Given the description of an element on the screen output the (x, y) to click on. 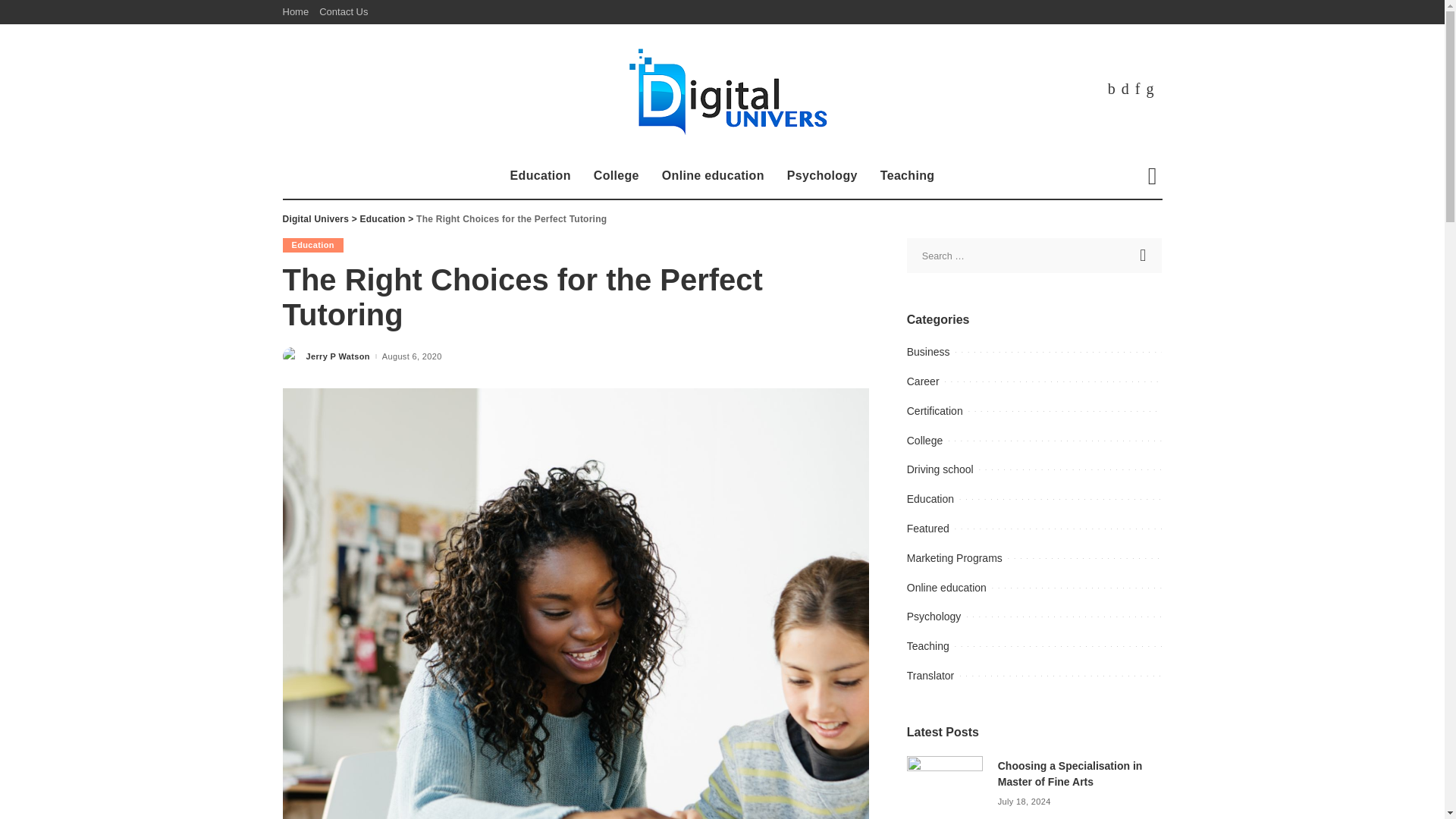
College (616, 176)
Home (298, 12)
Online education (713, 176)
Psychology (822, 176)
Search (1143, 255)
Teaching (907, 176)
Contact Us (343, 12)
Search (1143, 255)
Education (540, 176)
